Given the description of an element on the screen output the (x, y) to click on. 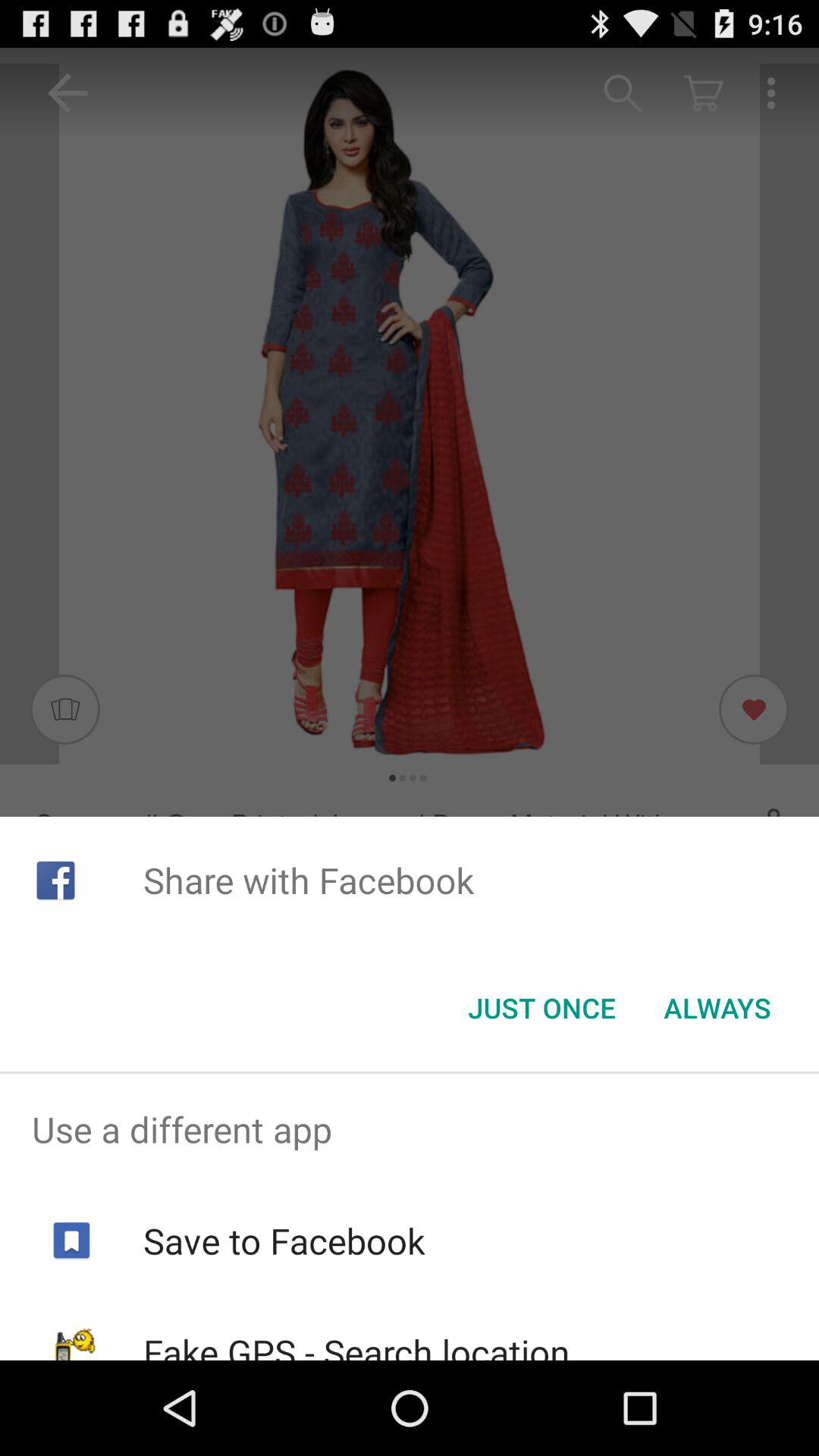
swipe to save to facebook icon (284, 1240)
